Given the description of an element on the screen output the (x, y) to click on. 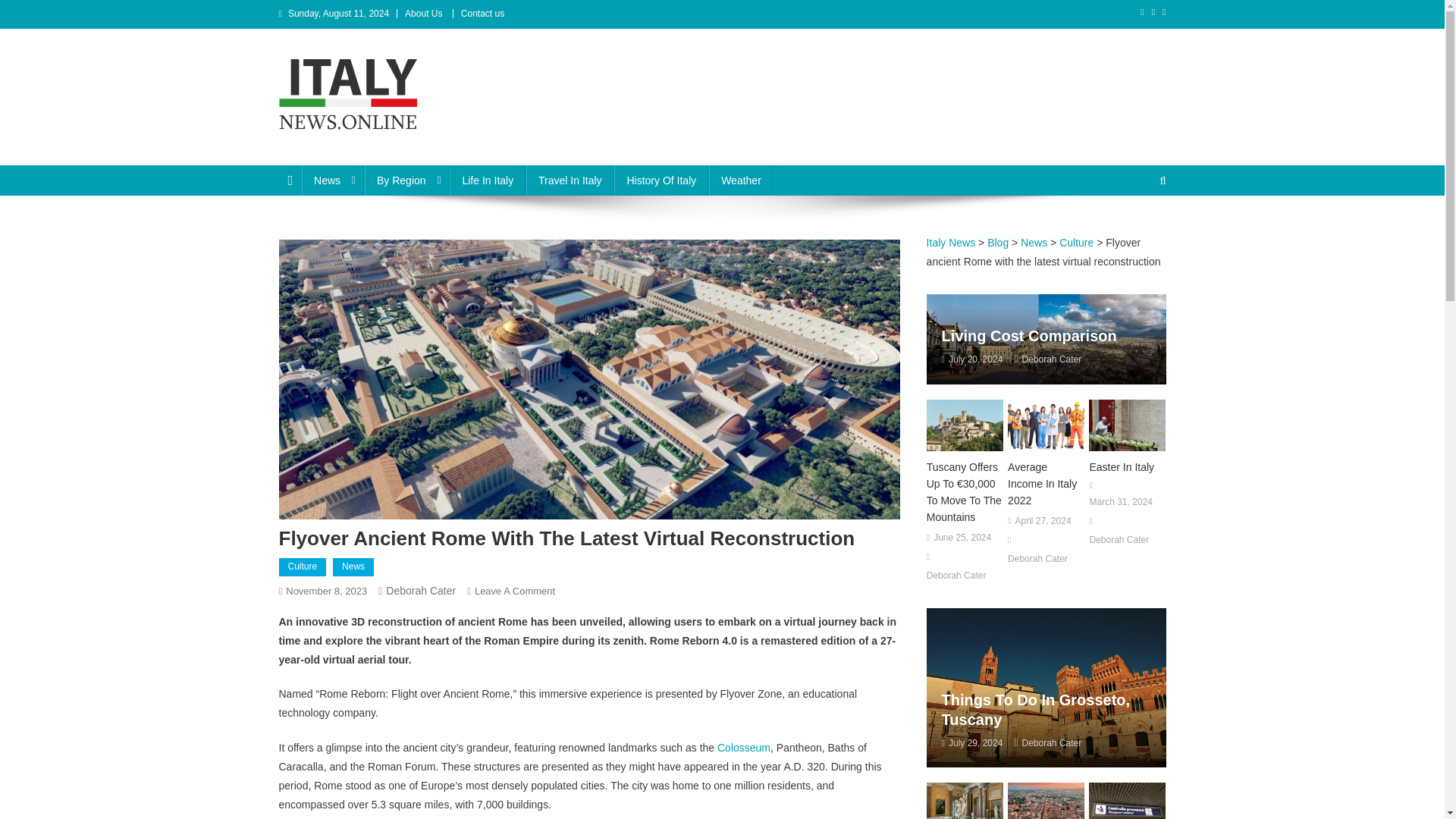
Life In Italy (487, 180)
Leave A Comment (514, 591)
Culture (302, 566)
Go to Italy News. (950, 242)
Weather (741, 180)
About Us (423, 13)
Go to the Culture Category archives. (1076, 242)
Deborah Cater (420, 590)
Travel In Italy (569, 180)
Italy News (338, 149)
